Given the description of an element on the screen output the (x, y) to click on. 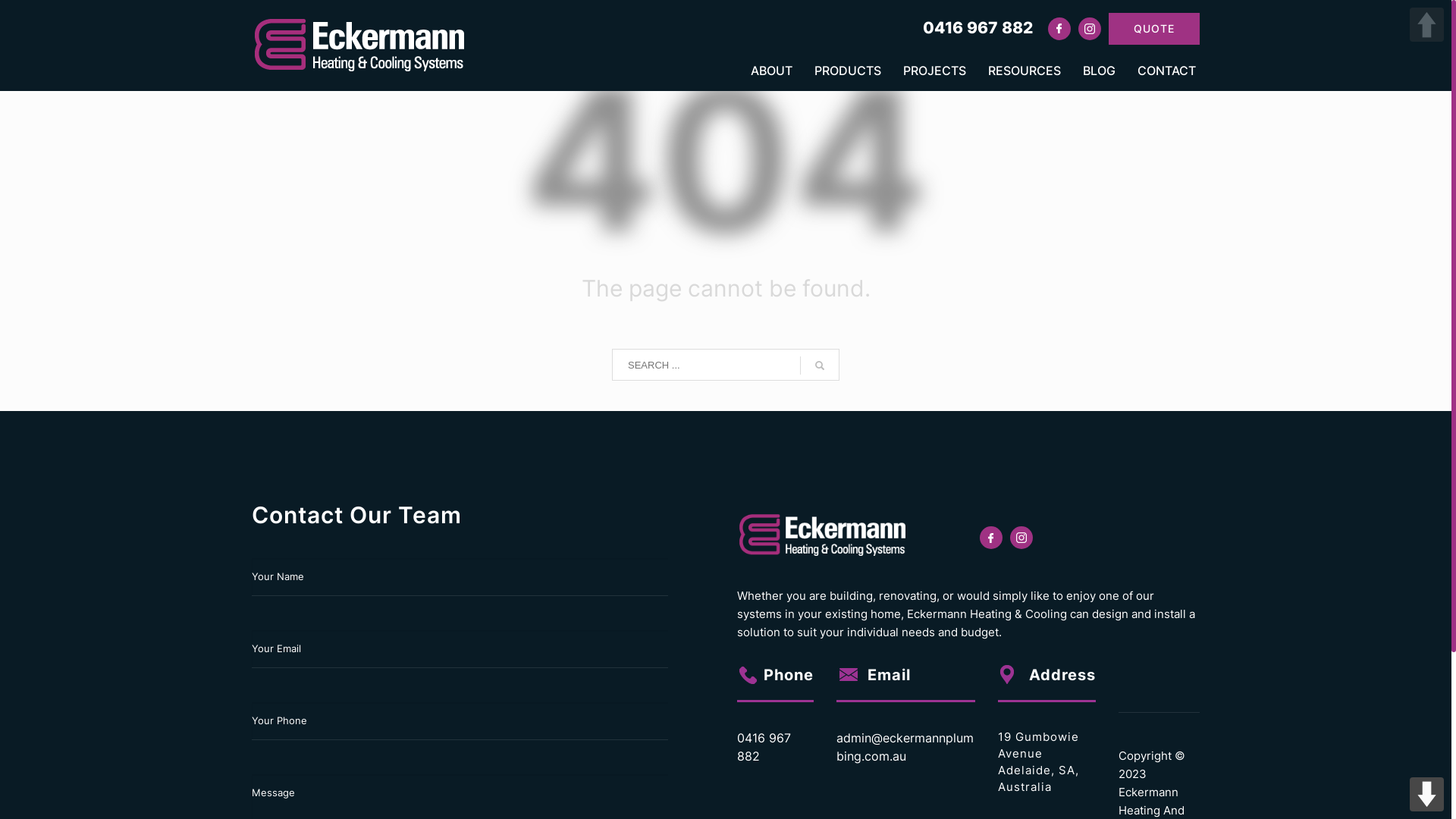
logo Element type: hover (824, 535)
go Element type: text (819, 365)
0416 967 882 Element type: text (977, 27)
ABOUT Element type: text (771, 69)
19 Gumbowie Avenue Adelaide, SA, Australia Element type: text (1038, 761)
UP Element type: text (1426, 24)
admin@eckermannplumbing.com.au Element type: text (904, 746)
PROJECTS Element type: text (934, 69)
Eckermann Heating & Cooling Element type: hover (361, 45)
DOWN Element type: text (1426, 794)
Instgram Element type: text (1089, 31)
PRODUCTS Element type: text (847, 69)
BLOG Element type: text (1098, 69)
RESOURCES Element type: text (1024, 69)
QUOTE Element type: text (1153, 27)
0416 967 882 Element type: text (763, 746)
Facebook Element type: text (1059, 31)
CONTACT Element type: text (1161, 69)
